Given the description of an element on the screen output the (x, y) to click on. 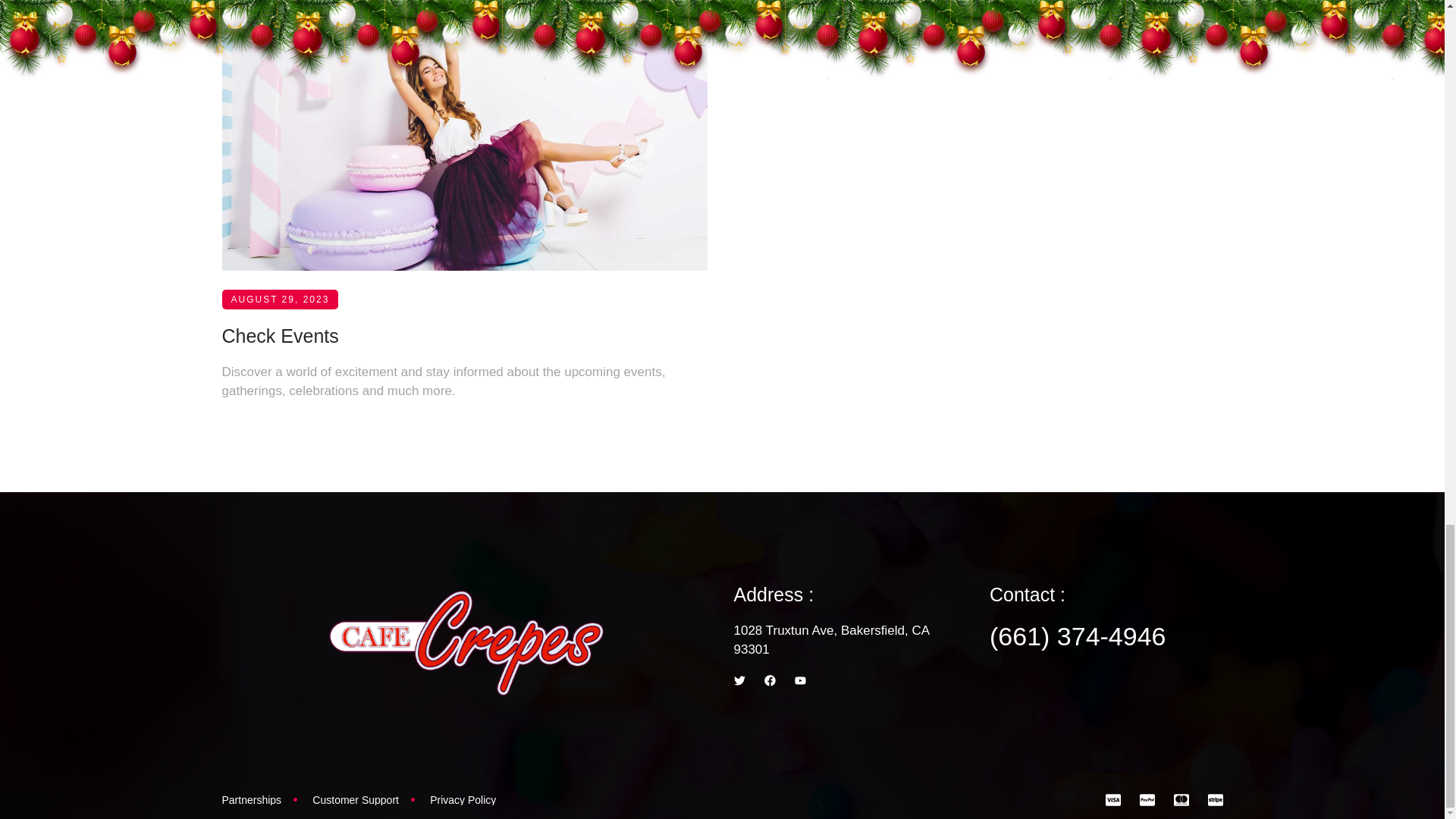
New Website (277, 34)
AUGUST 29, 2023 (279, 26)
AUGUST 29, 2023 (279, 346)
Check Events (279, 371)
